Given the description of an element on the screen output the (x, y) to click on. 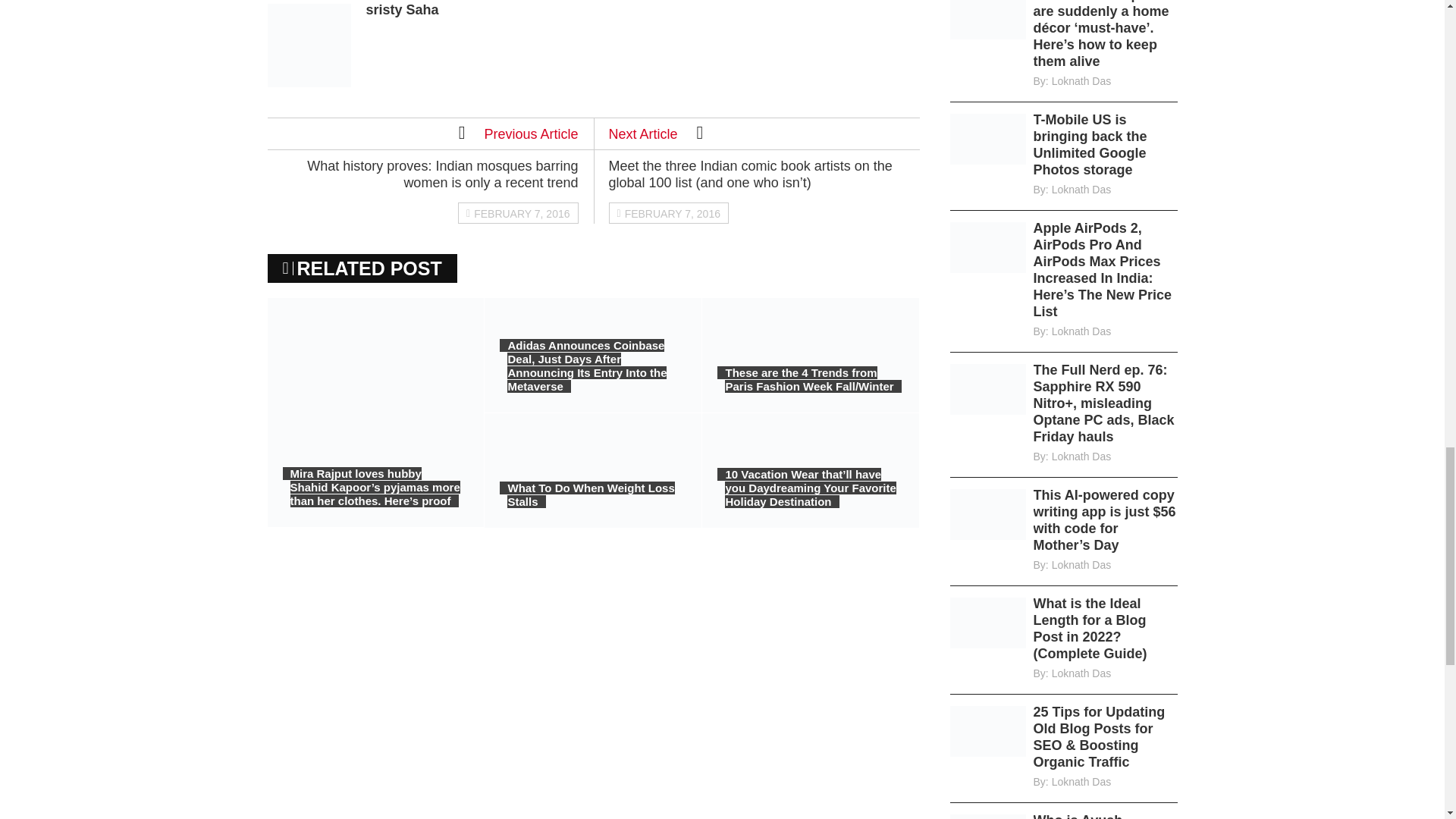
sristy Saha (401, 9)
Next Article (655, 132)
Posts by sristy Saha (401, 9)
Previous Article (518, 132)
